Given the description of an element on the screen output the (x, y) to click on. 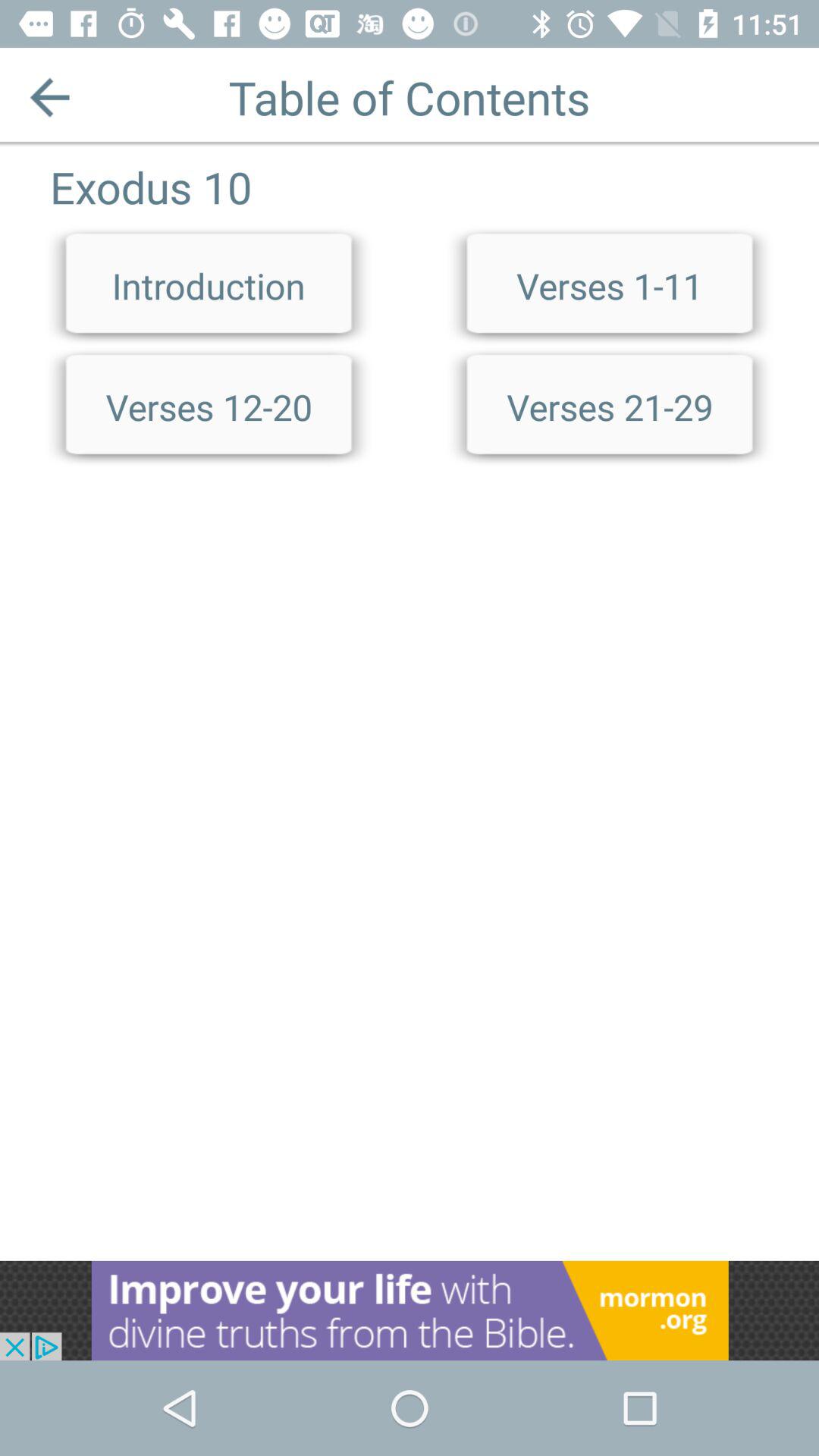
go back (49, 97)
